Given the description of an element on the screen output the (x, y) to click on. 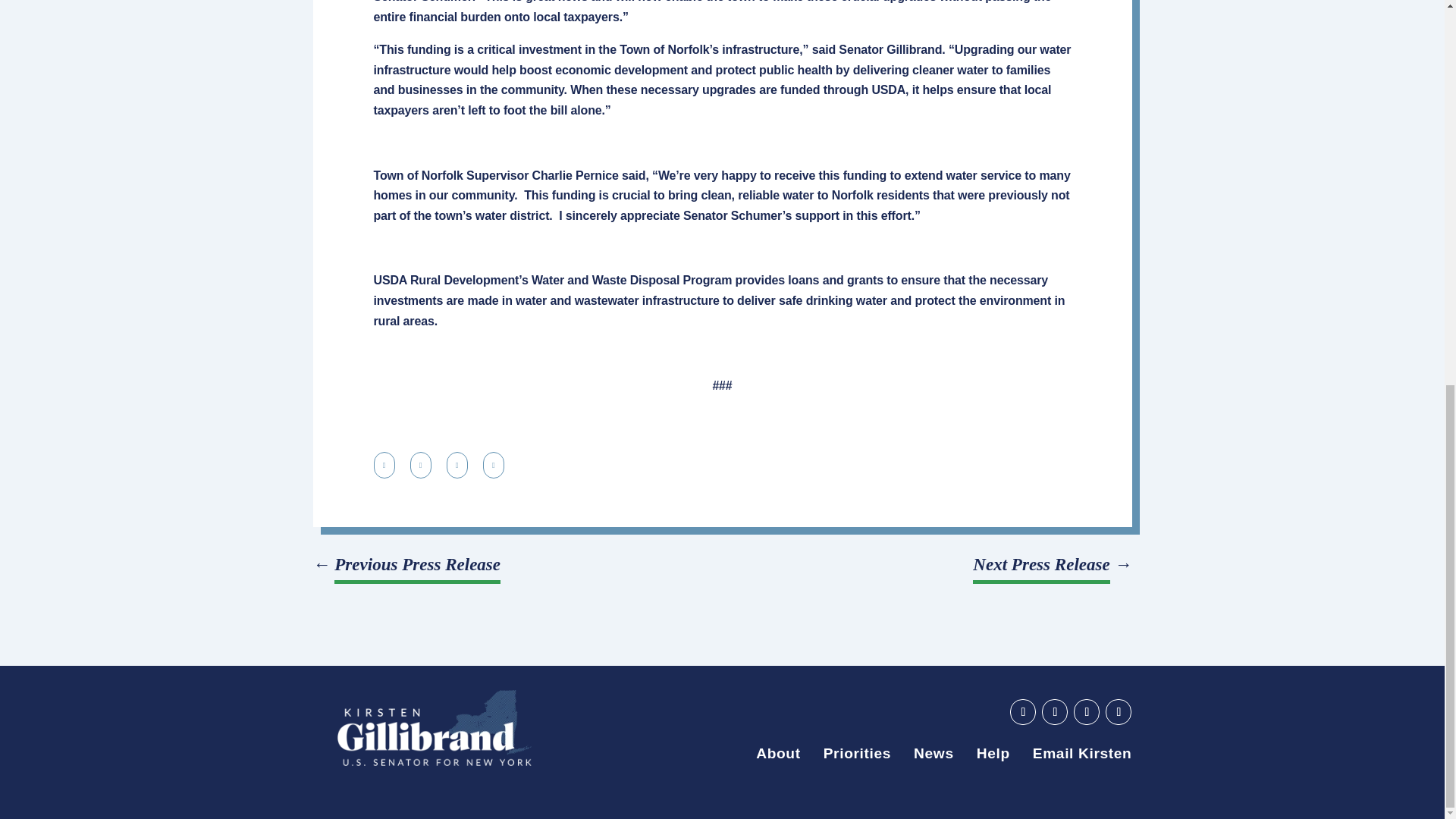
Follow on Instagram (1118, 711)
Follow on Facebook (1054, 711)
Follow on Twitter (1086, 711)
Follow on Youtube (1022, 711)
gillibrand-logo (434, 727)
